Given the description of an element on the screen output the (x, y) to click on. 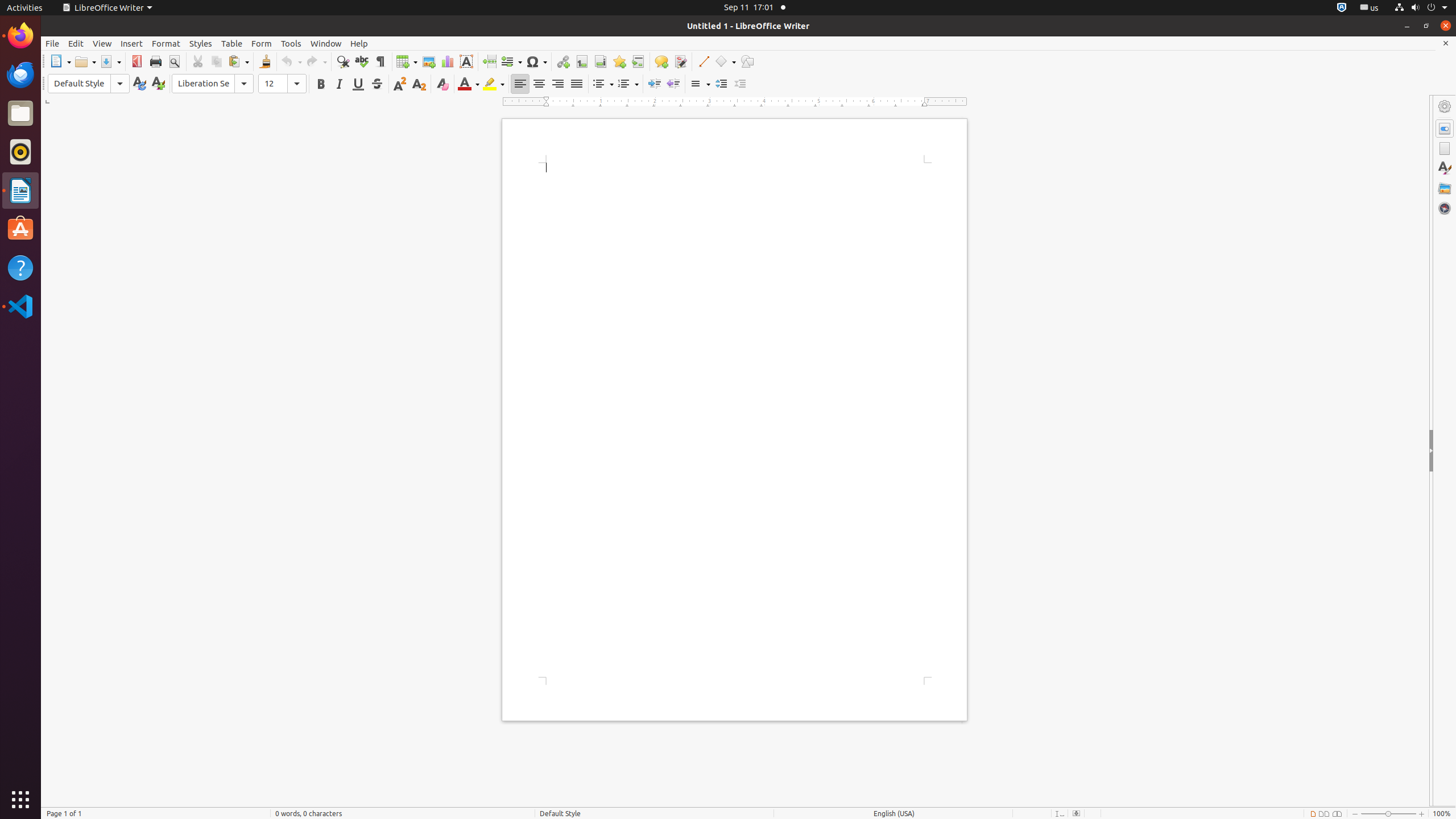
Basic Shapes Element type: push-button (724, 61)
Update Element type: push-button (138, 83)
Clear Element type: push-button (441, 83)
Horizontal Ruler Element type: ruler (734, 101)
Formatting Marks Element type: toggle-button (379, 61)
